Given the description of an element on the screen output the (x, y) to click on. 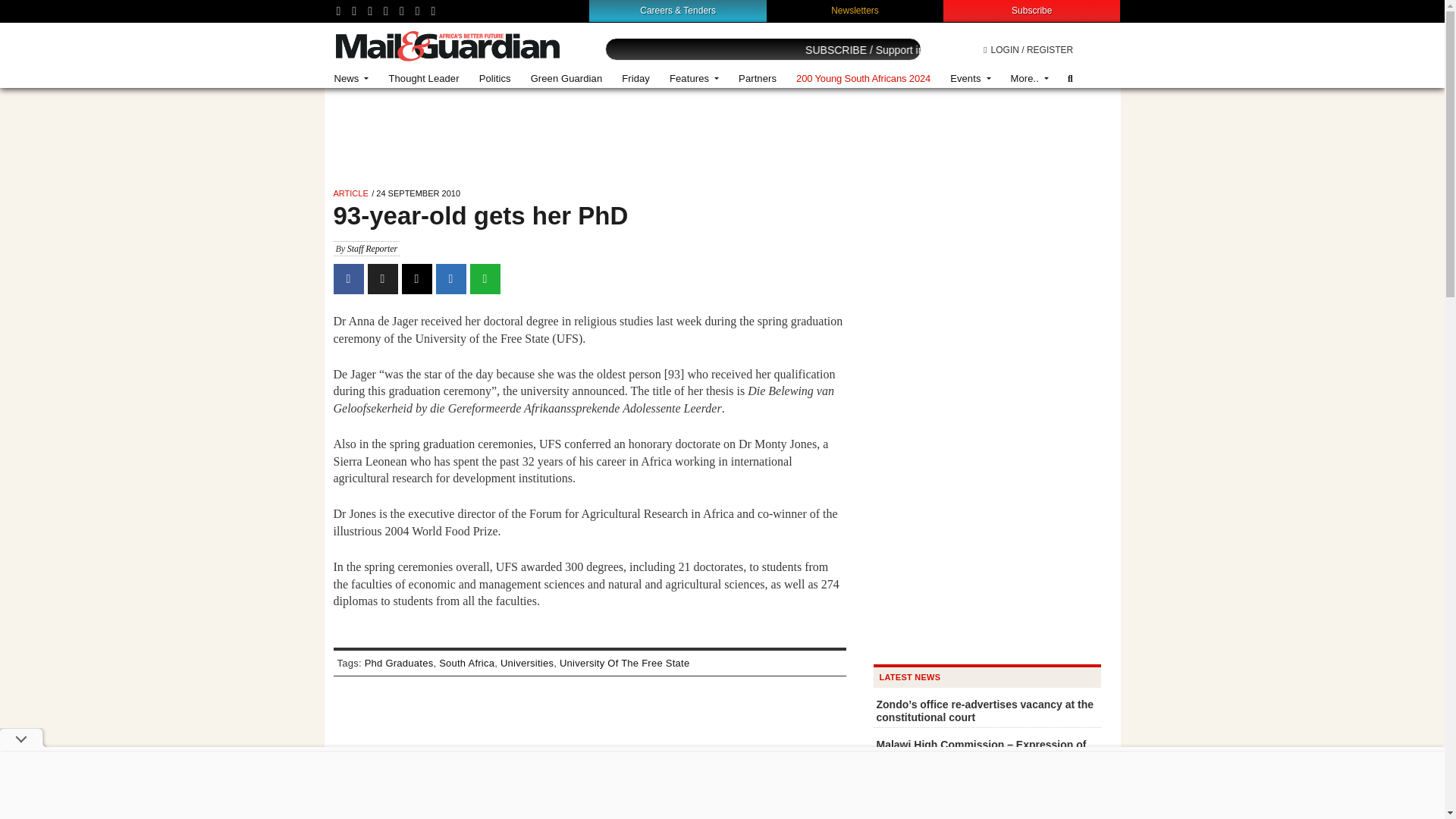
News (351, 78)
Friday (635, 78)
Politics (494, 78)
Newsletters (855, 9)
Thought Leader (423, 78)
News (351, 78)
Features (694, 78)
Subscribe (1031, 9)
Green Guardian (566, 78)
